Given the description of an element on the screen output the (x, y) to click on. 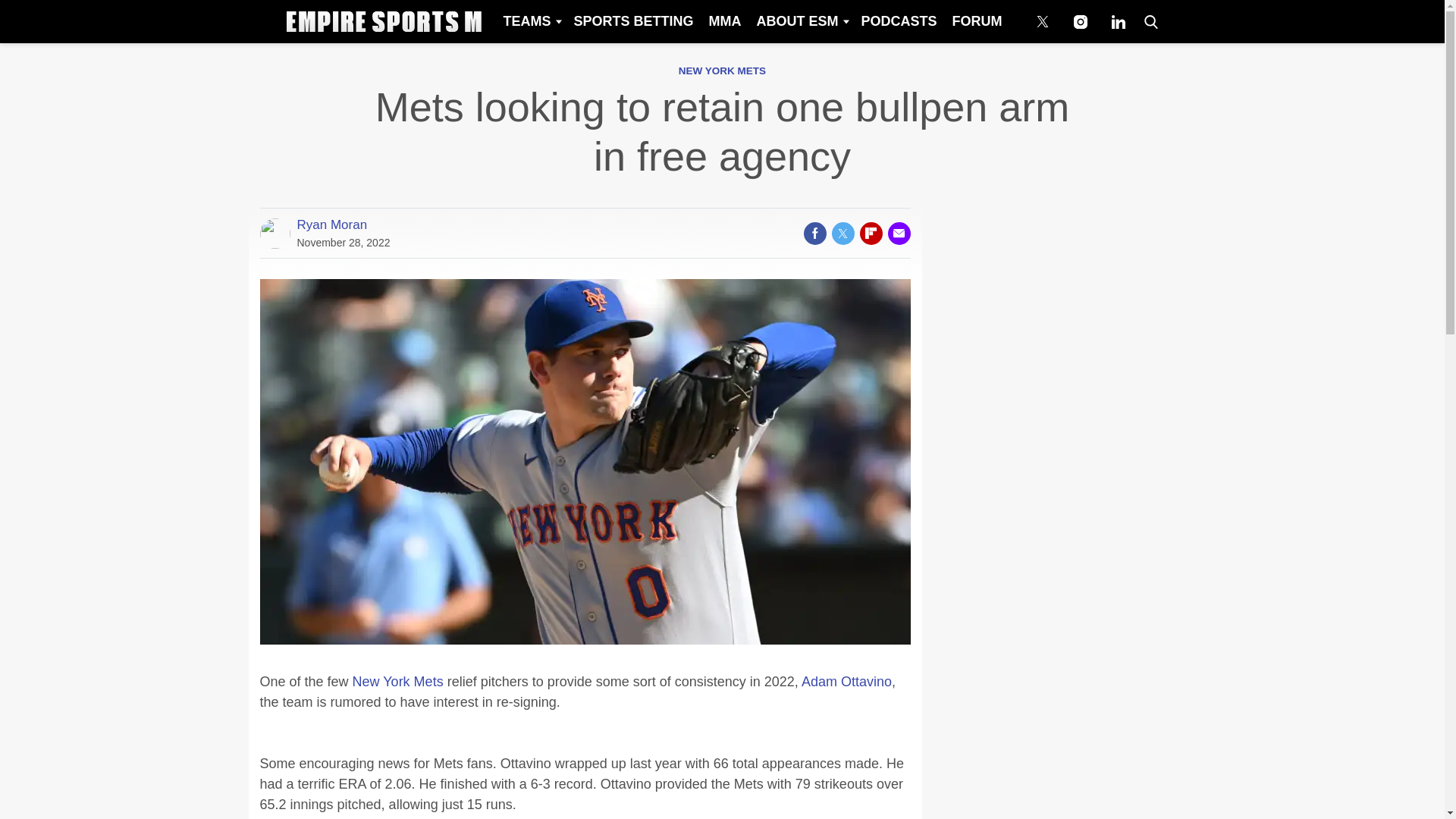
Share on Flipboard (871, 232)
Share on Twitter (842, 232)
Adam Ottavino (846, 681)
TEAMS (530, 21)
Share via Email (898, 232)
ABOUT ESM (800, 21)
Share on Facebook (815, 232)
FORUM (977, 21)
SPORTS BETTING (633, 21)
NEW YORK METS (721, 70)
MMA (724, 21)
PODCASTS (898, 21)
New York Mets (398, 681)
Ryan Moran (332, 225)
Posts by Ryan Moran (332, 225)
